Given the description of an element on the screen output the (x, y) to click on. 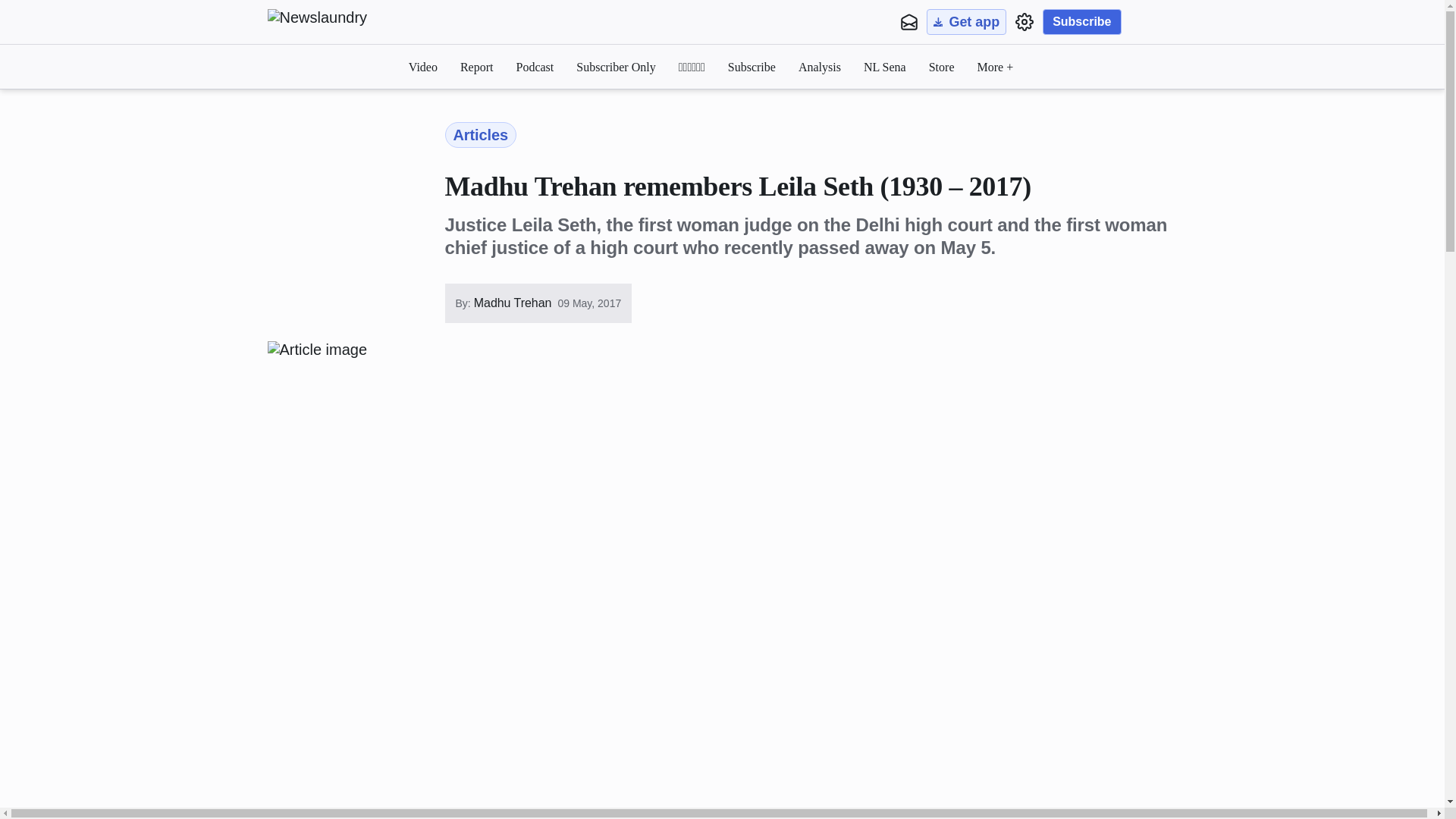
Subscribe (1081, 22)
Madhu Trehan (510, 303)
Podcast (534, 66)
Analysis (819, 66)
Video (423, 66)
Articles (480, 134)
Subscribe (752, 66)
NL Sena (884, 66)
2017-05-09 11:26 (589, 303)
Store (941, 66)
Report (476, 66)
More (994, 66)
Get app (966, 22)
Subscriber Only (615, 66)
